Given the description of an element on the screen output the (x, y) to click on. 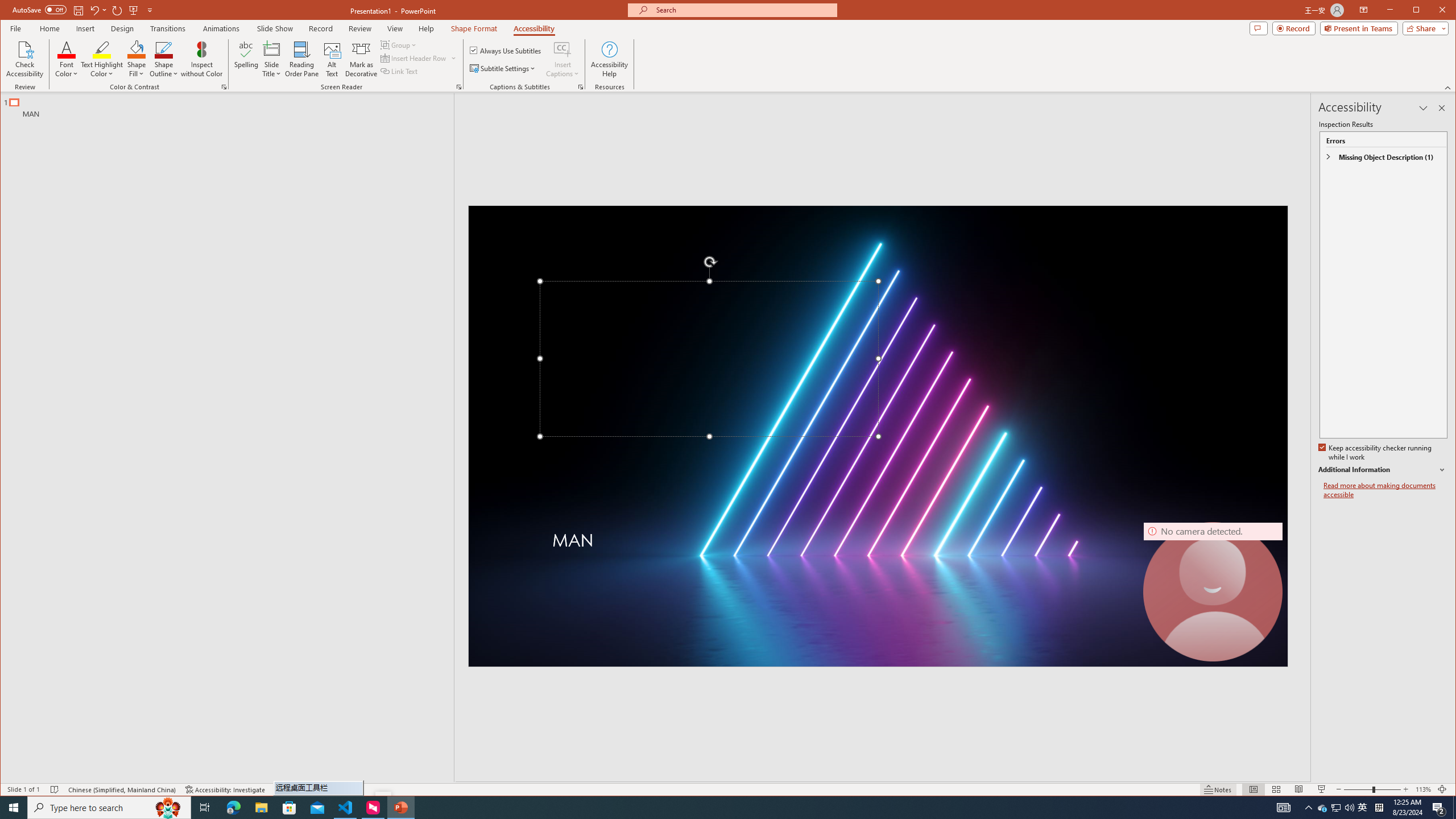
Neon laser lights aligned to form a triangle (877, 435)
Captions & Subtitles (580, 86)
Subtitle Settings (502, 68)
